Given the description of an element on the screen output the (x, y) to click on. 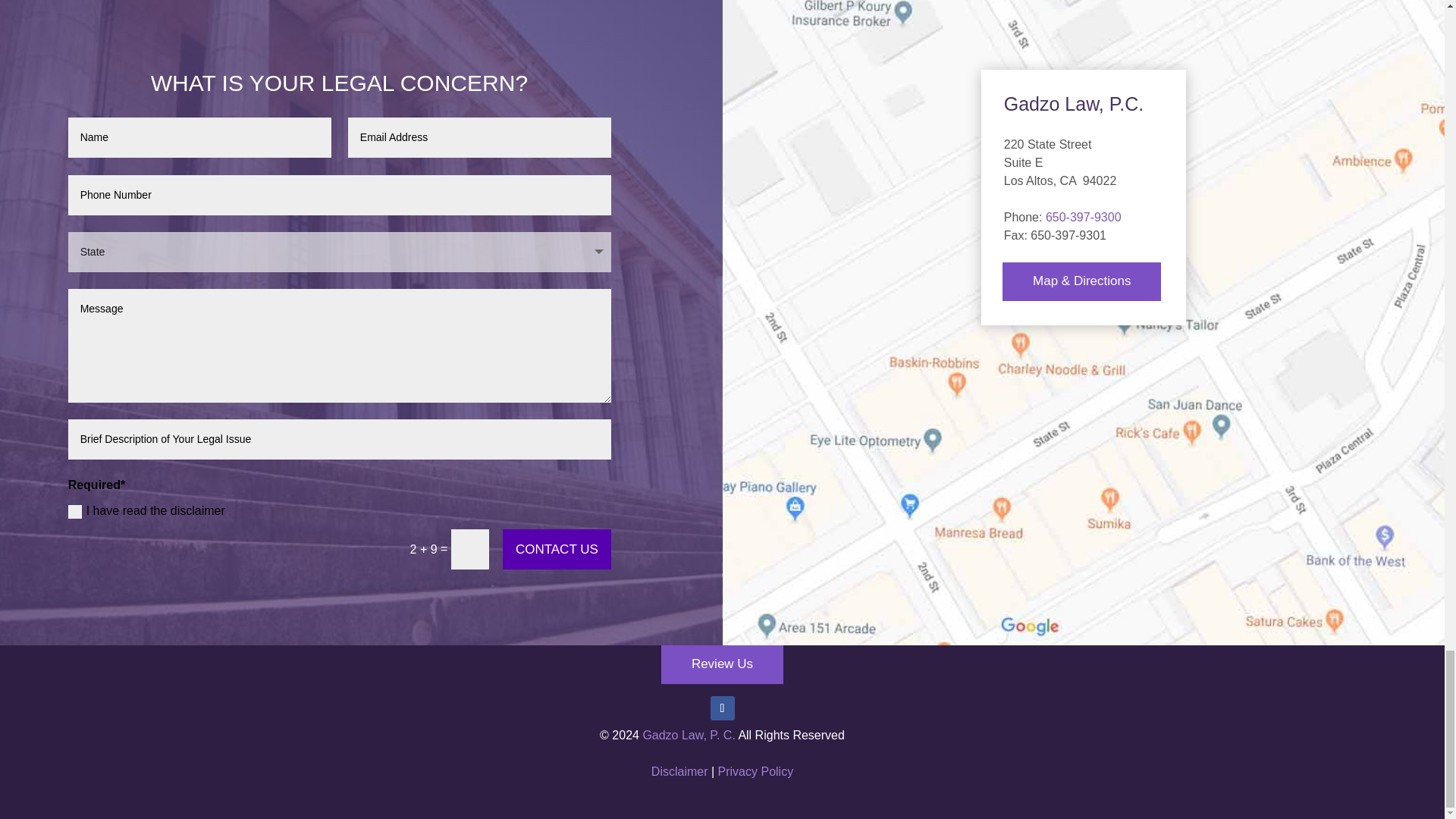
Follow on Facebook (721, 708)
